Given the description of an element on the screen output the (x, y) to click on. 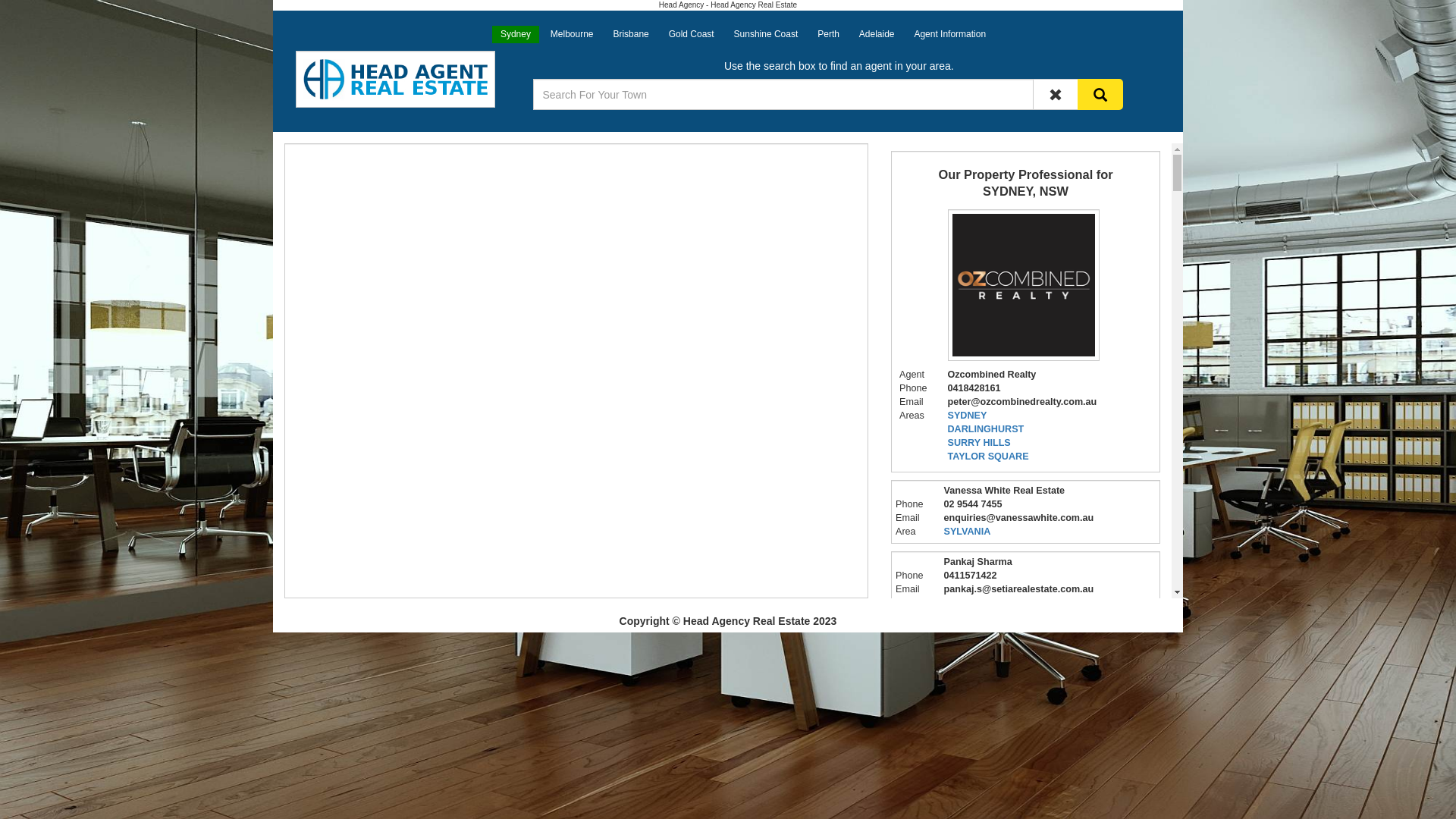
NEWINGTON Element type: text (972, 673)
SURRY HILLS Element type: text (978, 442)
Perth Element type: text (828, 33)
Agent Information Element type: text (949, 33)
DARLINGHURST Element type: text (985, 428)
Sunshine Coast Element type: text (766, 33)
Sydney Element type: text (515, 33)
MAIANBAR Element type: text (969, 758)
SYLVANIA Element type: text (966, 531)
Brisbane Element type: text (630, 33)
Adelaide Element type: text (876, 33)
Gold Coast Element type: text (691, 33)
SYDNEY Element type: text (967, 415)
BUNDEENA Element type: text (970, 745)
Melbourne Element type: text (571, 33)
WOODCROFT Element type: text (975, 602)
TAYLOR SQUARE Element type: text (988, 456)
